Given the description of an element on the screen output the (x, y) to click on. 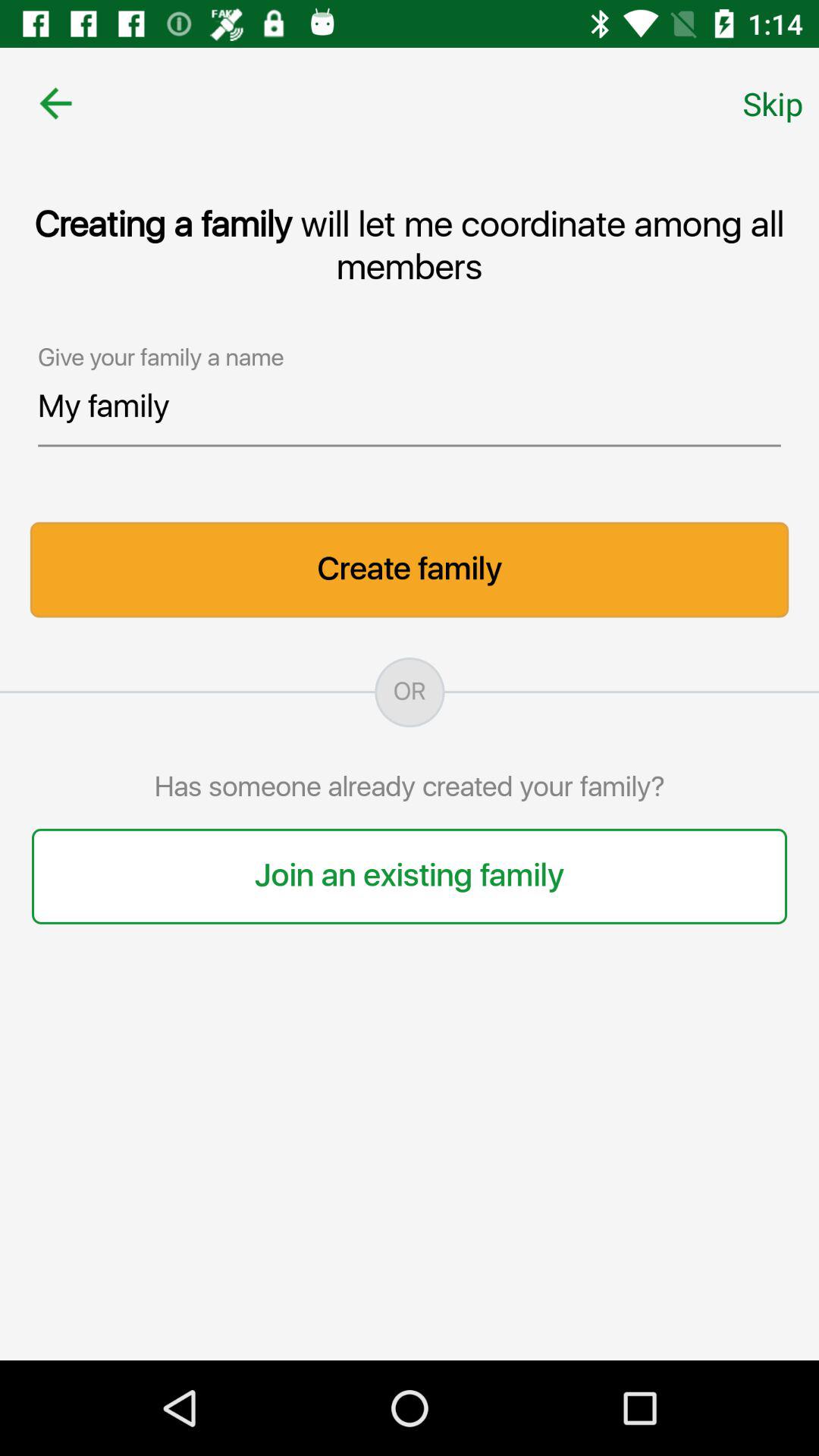
turn on the has someone already item (409, 787)
